Given the description of an element on the screen output the (x, y) to click on. 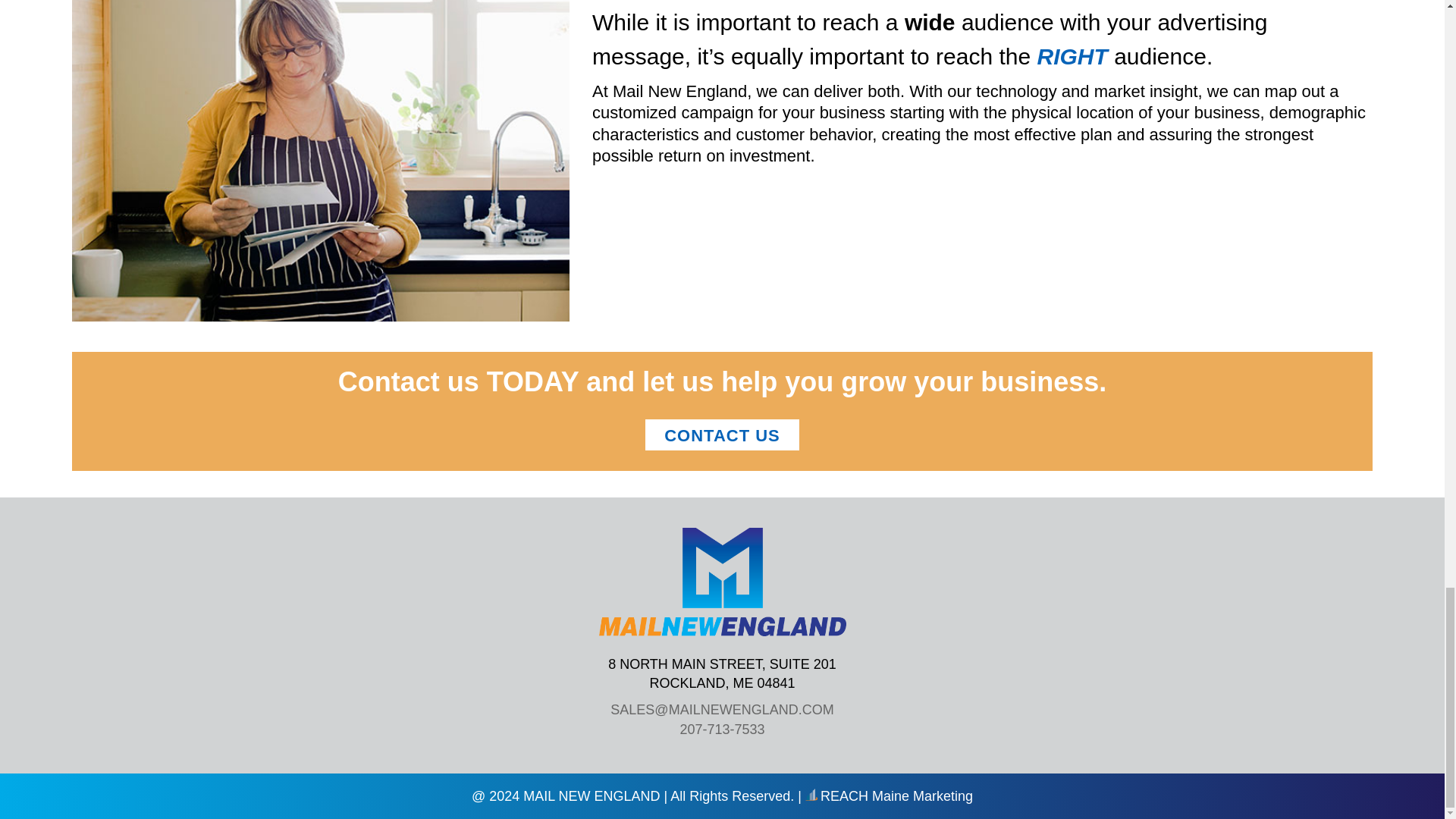
207-713-7533 (721, 729)
CONTACT US (722, 434)
REACH Maine Marketing (888, 795)
